Given the description of an element on the screen output the (x, y) to click on. 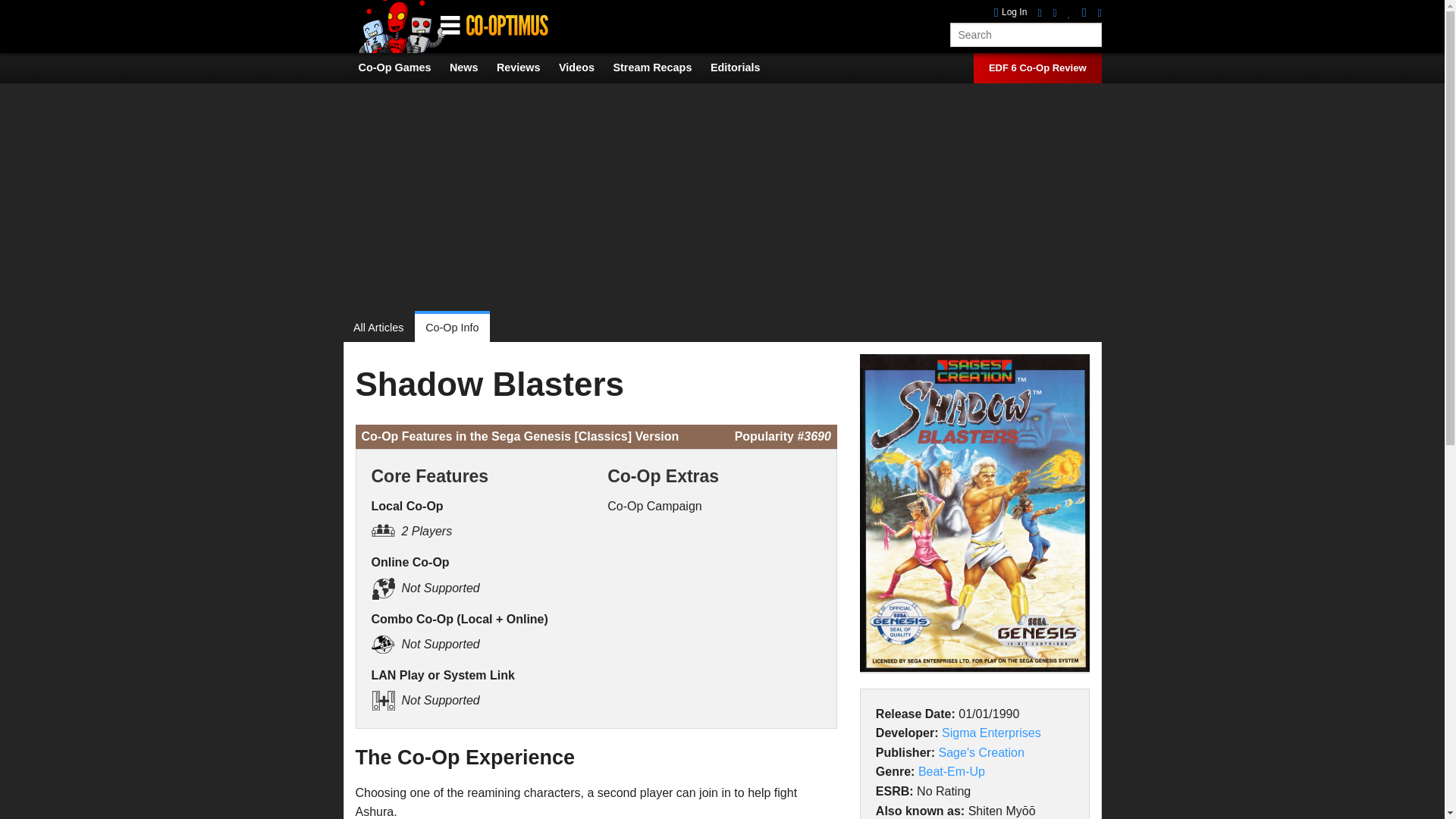
login (1010, 11)
All Articles (383, 327)
Co-Op Info (451, 327)
Beat-Em-Up (951, 771)
News (471, 67)
Sage's Creation (982, 752)
 Log In (1010, 11)
Weekly Video Streams and VODs from Co-Optimus (659, 67)
Sigma Enterprises (991, 732)
Co-Op Games (401, 67)
